Given the description of an element on the screen output the (x, y) to click on. 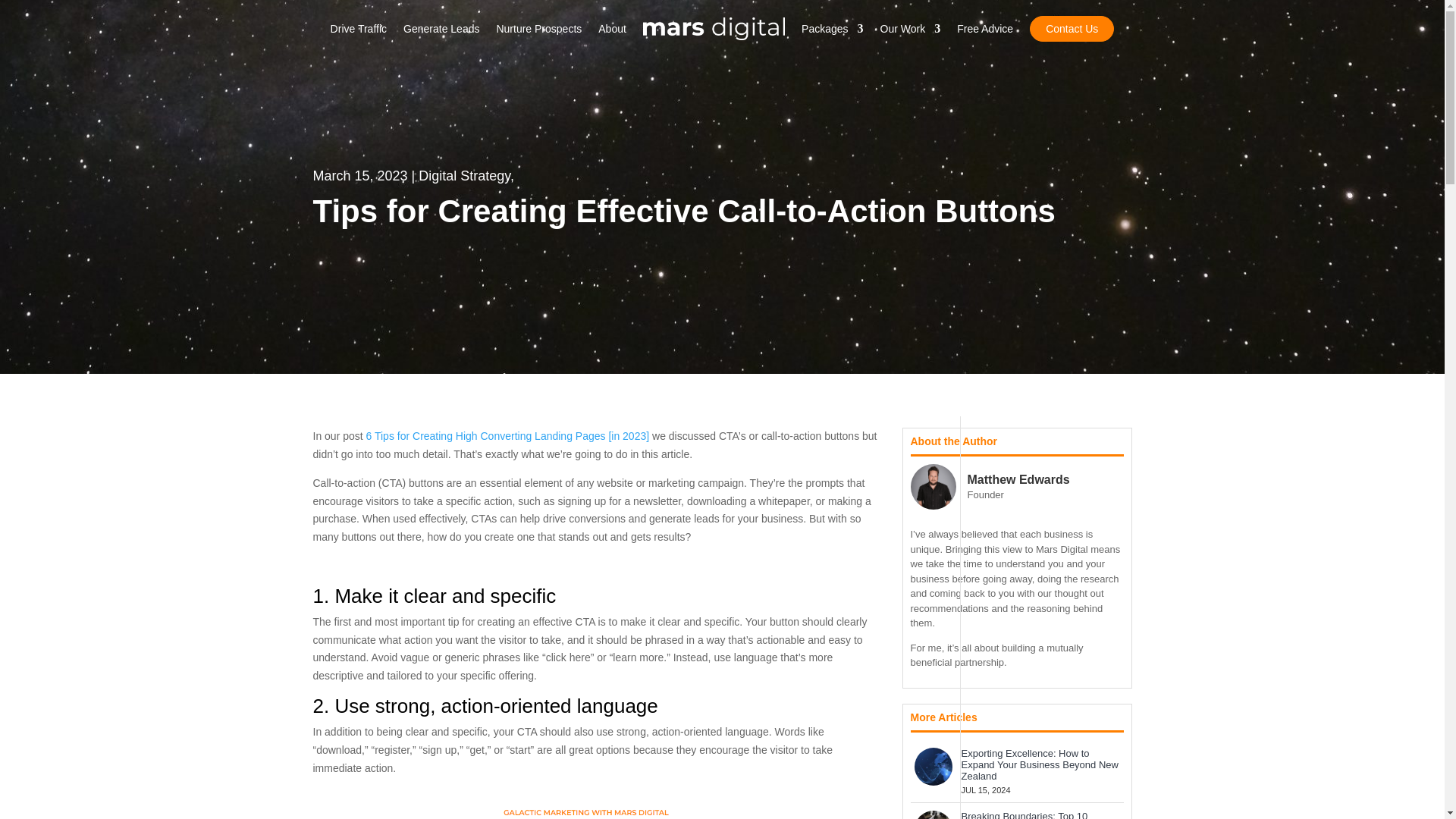
Generate Leads (441, 28)
Drive Traffic (358, 28)
Digital Strategy (465, 175)
Contact Us (1071, 28)
Packages (832, 28)
Nurture Prospects (538, 28)
Our Work (910, 28)
Free Advice (984, 28)
Matthew Edwards (1019, 479)
